Given the description of an element on the screen output the (x, y) to click on. 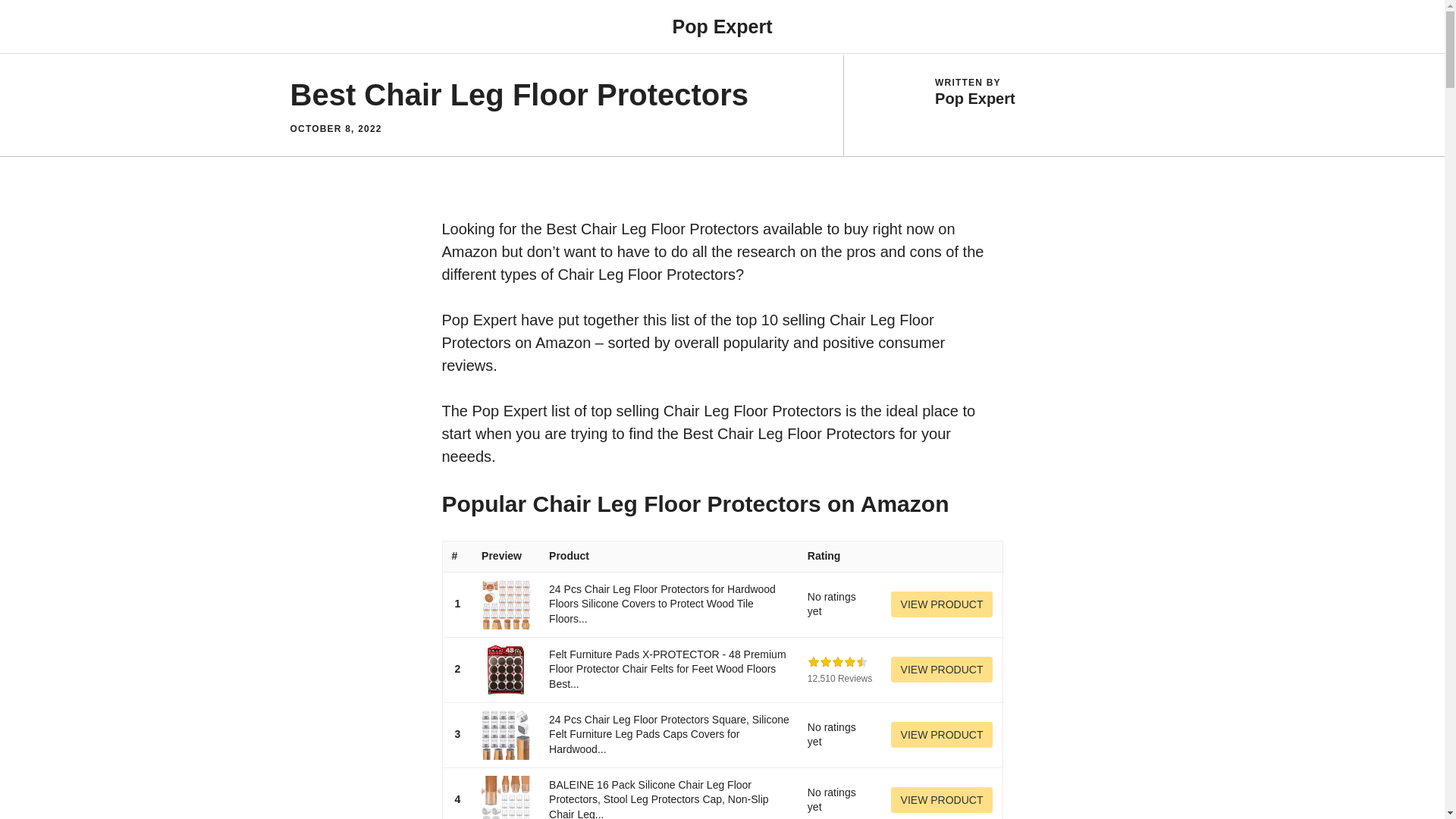
VIEW PRODUCT (941, 734)
VIEW PRODUCT (941, 669)
Reviews on Amazon (837, 662)
VIEW PRODUCT (941, 800)
VIEW PRODUCT (941, 604)
VIEW PRODUCT (941, 669)
VIEW PRODUCT (941, 734)
Pop Expert (721, 25)
VIEW PRODUCT (941, 604)
VIEW PRODUCT (941, 800)
